Given the description of an element on the screen output the (x, y) to click on. 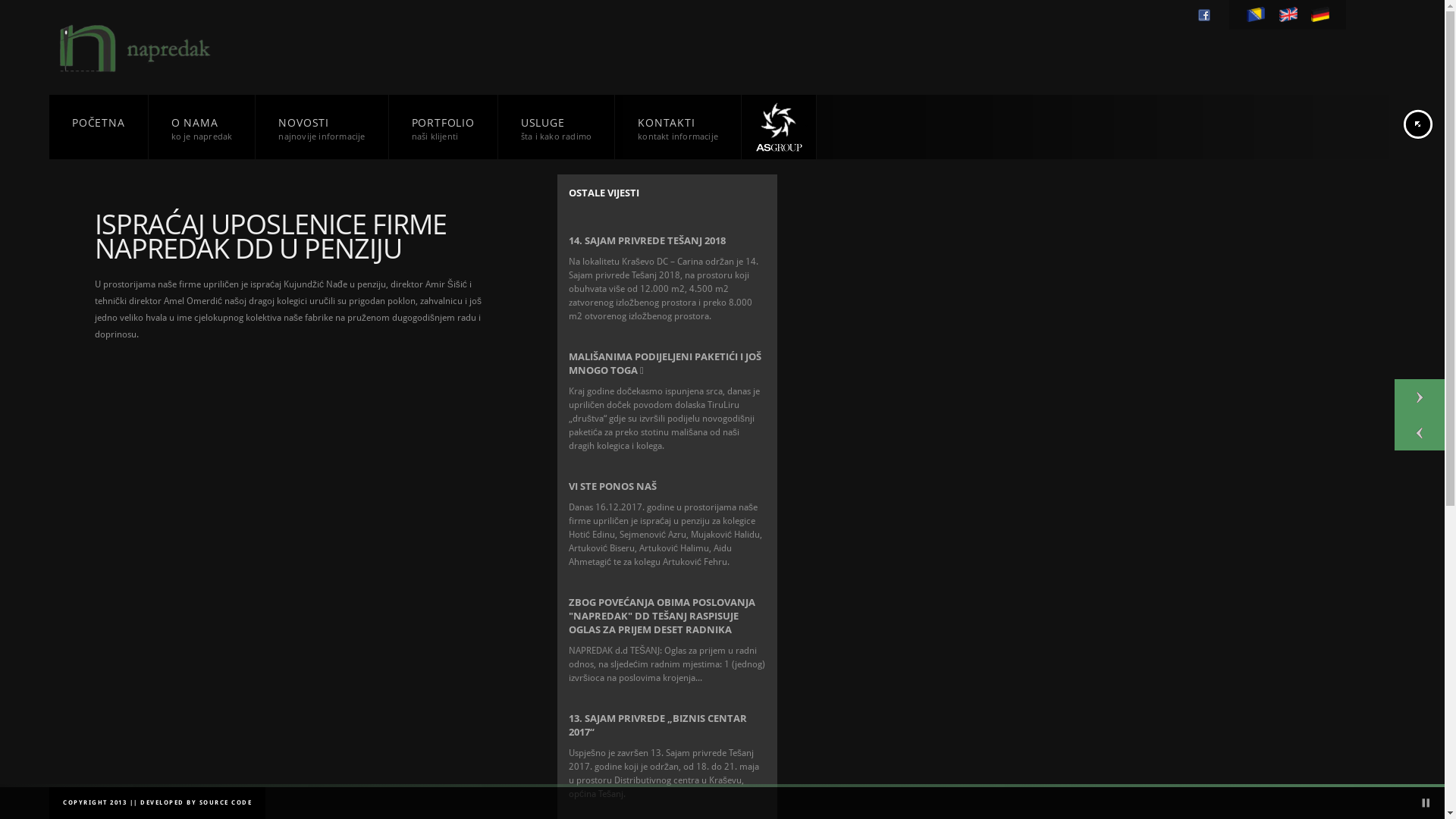
NOVOSTI
najnovije informacije Element type: text (321, 133)
SOURCE CODE Element type: text (224, 802)
KONTAKTI
kontakt informacije Element type: text (678, 133)
